Given the description of an element on the screen output the (x, y) to click on. 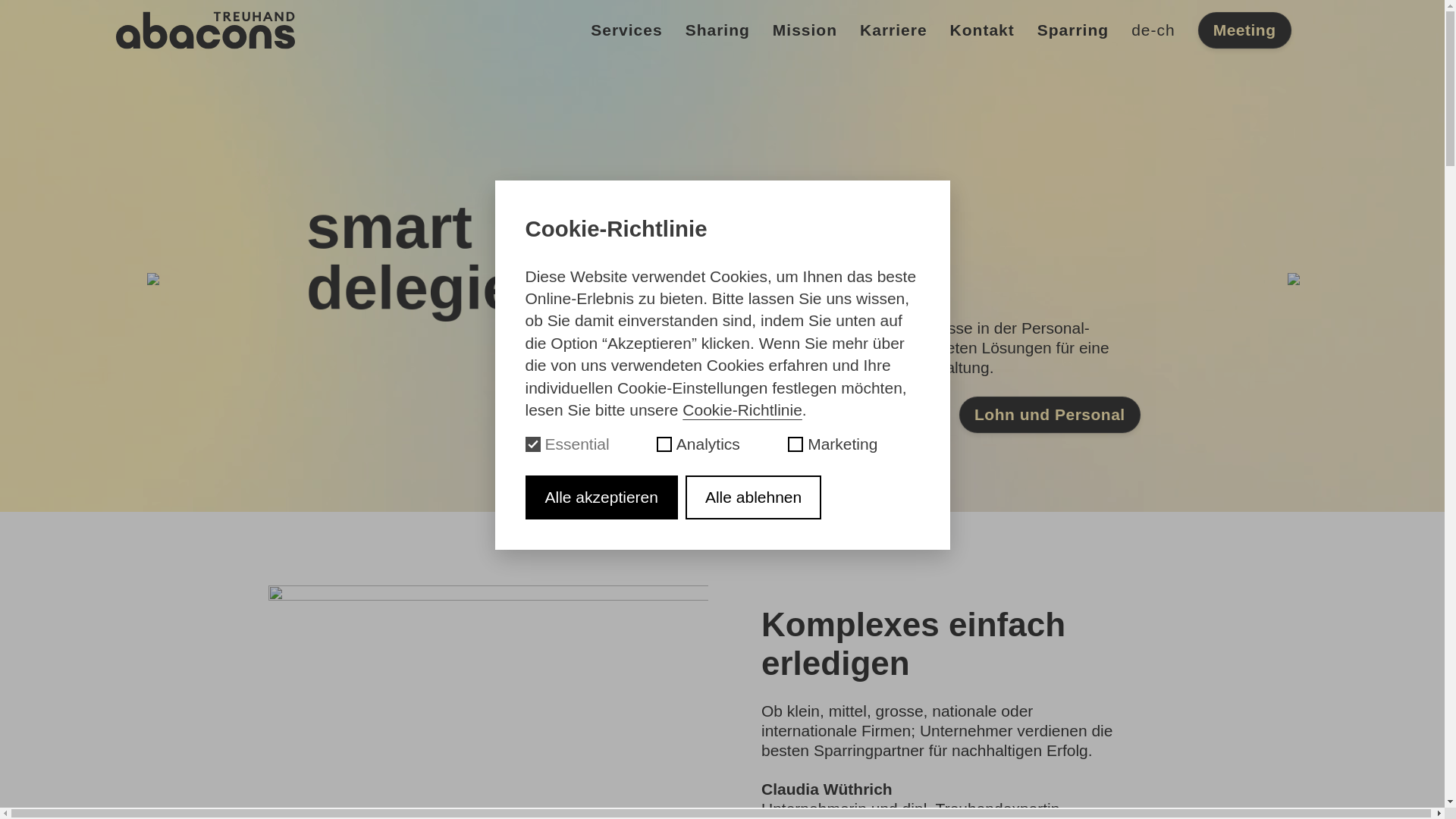
Cookie-Richtlinie Element type: text (742, 409)
Karriere Element type: text (893, 30)
6 Element type: text (749, 488)
Kontakt Element type: text (982, 30)
Online-Treuhand Element type: text (231, 414)
Meeting Element type: text (1244, 30)
Mission Element type: text (804, 30)
3 Element type: text (717, 488)
1 Element type: text (696, 488)
2 Element type: text (707, 488)
4 Element type: text (728, 488)
de-ch Element type: text (1153, 30)
Services Element type: text (626, 30)
Alle akzeptieren Element type: text (600, 497)
5 Element type: text (739, 488)
Sharing Element type: text (717, 30)
Sparring Element type: text (1073, 30)
Alle ablehnen Element type: text (753, 497)
